Given the description of an element on the screen output the (x, y) to click on. 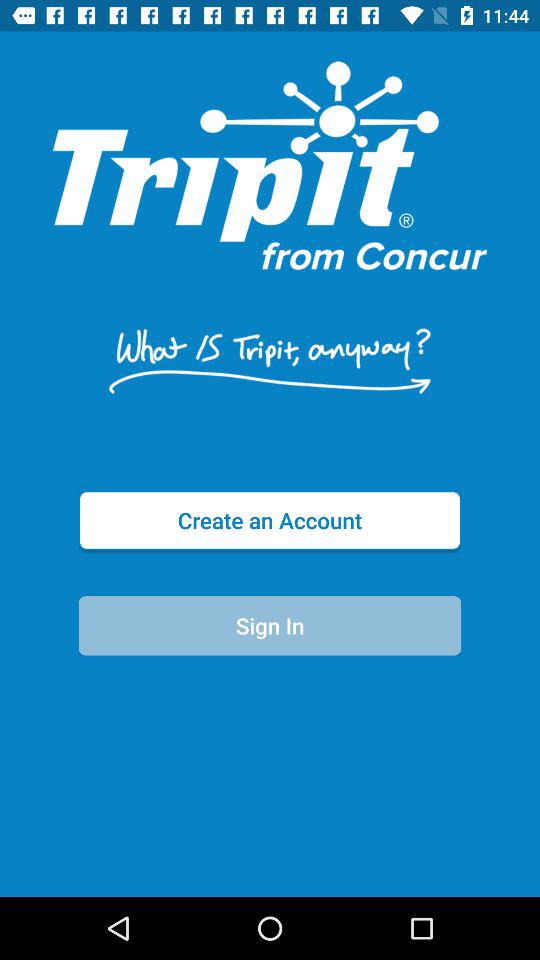
flip until sign in (269, 625)
